Given the description of an element on the screen output the (x, y) to click on. 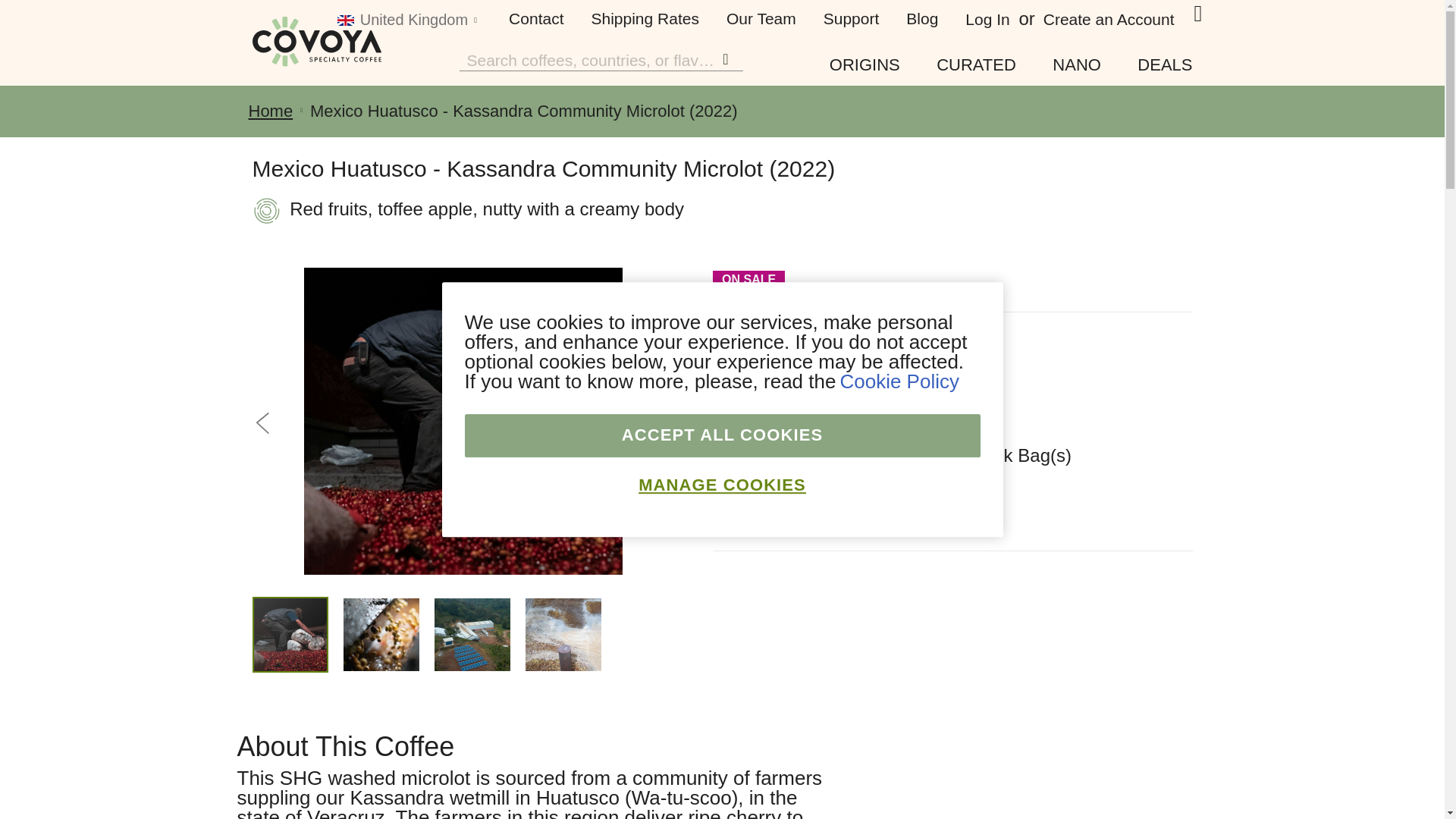
Covoya Specialty Coffee UK (315, 41)
Log In (987, 19)
Our Team (761, 18)
Support (851, 18)
Our Team (761, 18)
Contact (535, 18)
Shipping Rates (644, 18)
Create an Account (1108, 19)
Support (921, 18)
Blog (921, 18)
Support (851, 18)
Covoya Specialty Coffee UK (315, 35)
ORIGINS (864, 64)
Contact (535, 18)
